Given the description of an element on the screen output the (x, y) to click on. 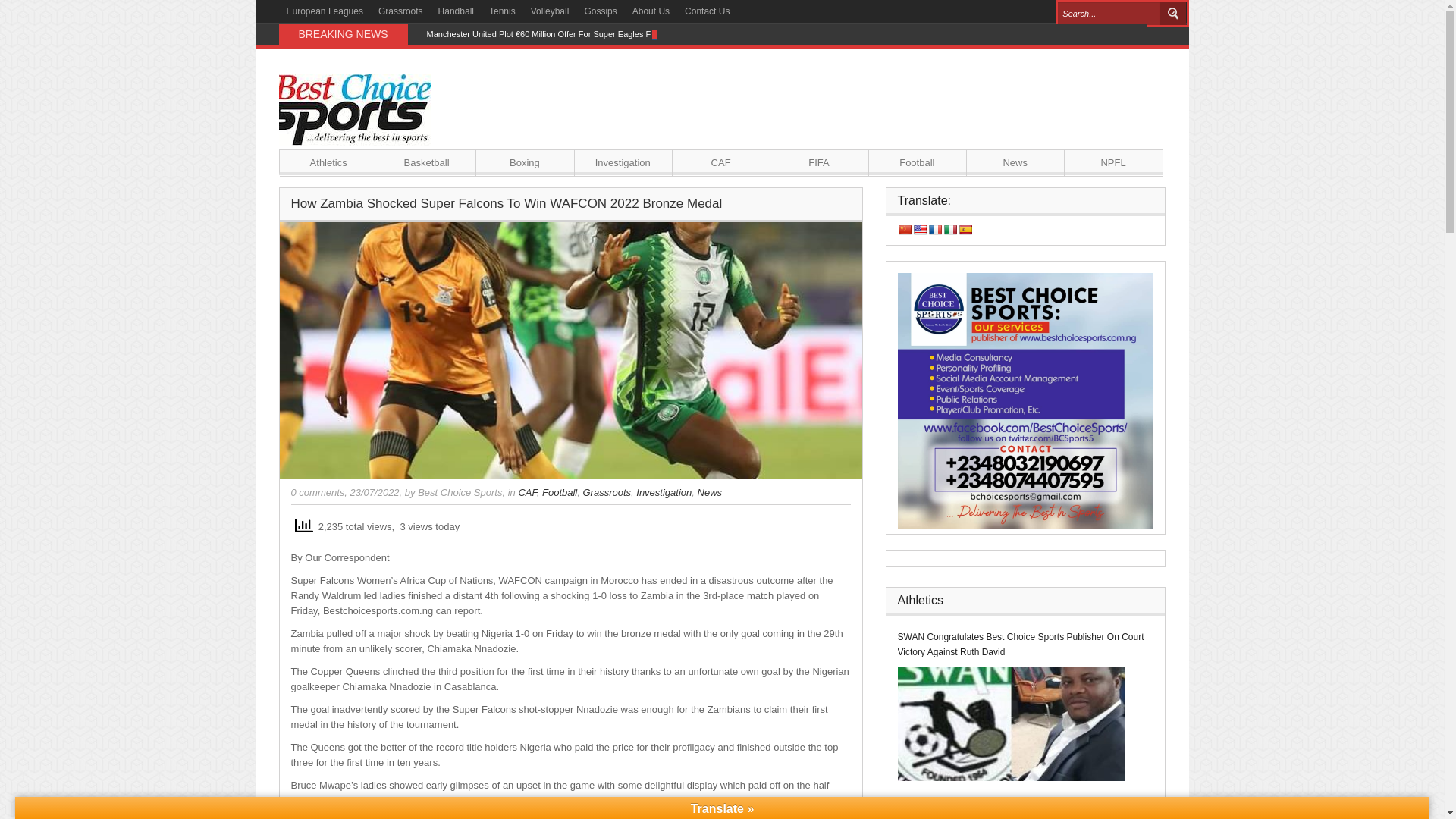
English (919, 229)
FIFA (818, 162)
Basketball (426, 162)
Boxing (524, 162)
0 comments (318, 491)
Athletics (328, 162)
News (1015, 162)
Football (558, 491)
Italian (949, 229)
European Leagues (325, 11)
Volleyball (549, 11)
Search (1173, 13)
French (935, 229)
Handball (455, 11)
Search (1173, 13)
